Given the description of an element on the screen output the (x, y) to click on. 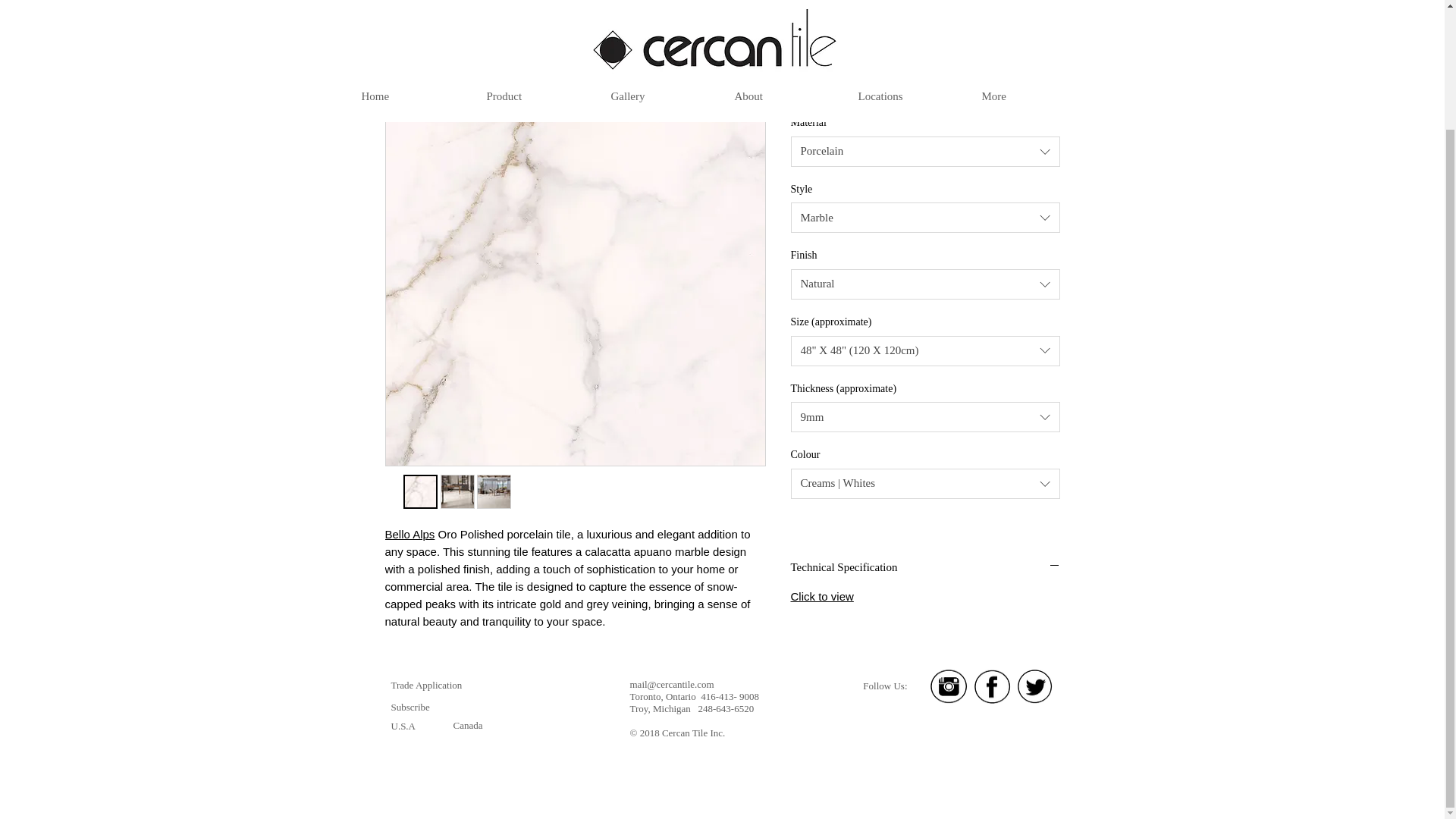
Porcelain (924, 151)
Bello Alps (410, 533)
Marble (924, 217)
Natural (924, 284)
